Given the description of an element on the screen output the (x, y) to click on. 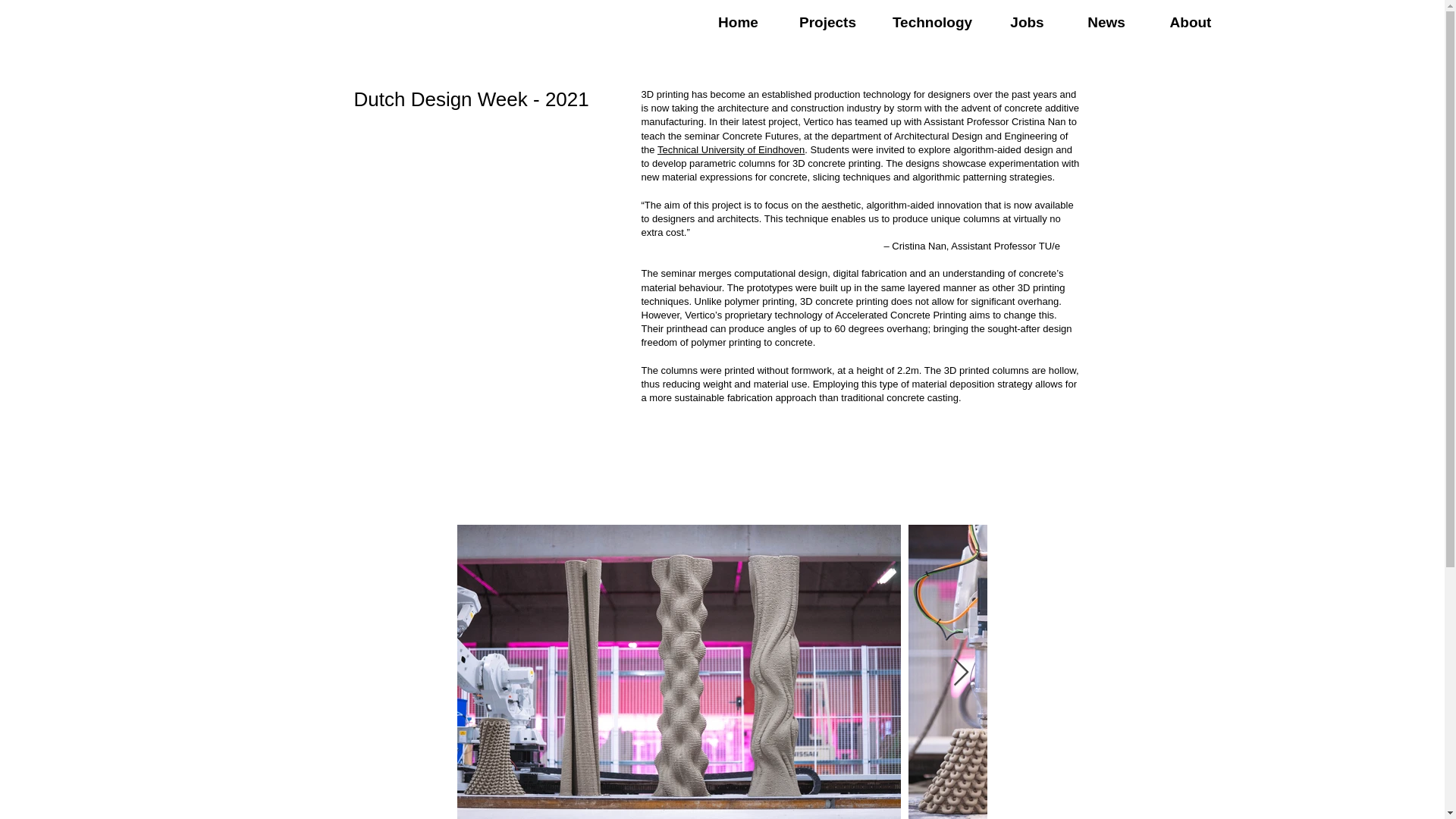
Jobs (1027, 22)
Projects (827, 22)
Technology (932, 22)
Technical University of Eindhoven (731, 149)
News (1106, 22)
About (1189, 22)
Home (737, 22)
